Given the description of an element on the screen output the (x, y) to click on. 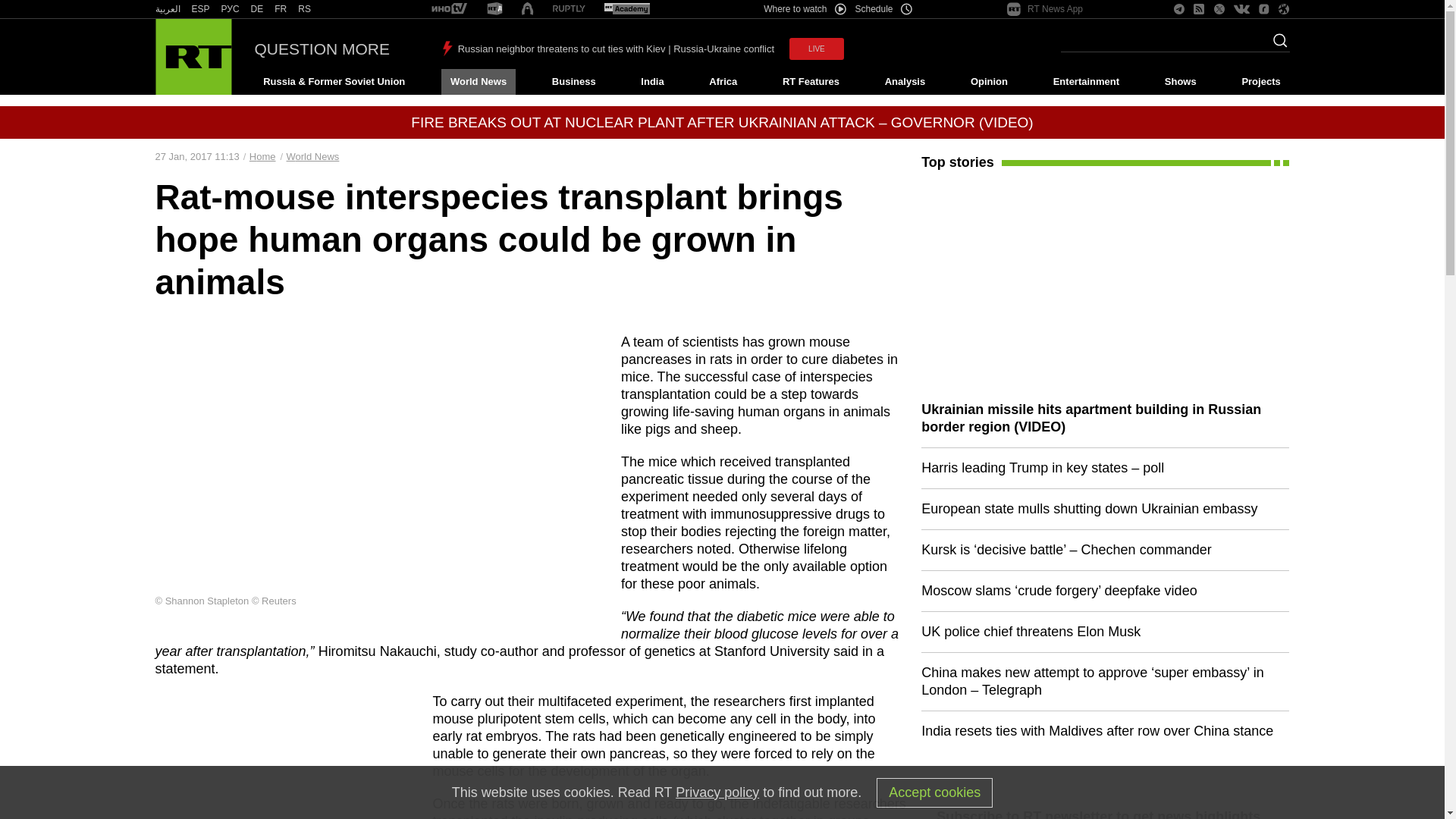
Entertainment (1085, 81)
Opinion (988, 81)
RT Features (810, 81)
Schedule (884, 9)
RT  (280, 9)
Where to watch (803, 9)
DE (256, 9)
LIVE (816, 48)
RT  (166, 9)
RS (304, 9)
